Given the description of an element on the screen output the (x, y) to click on. 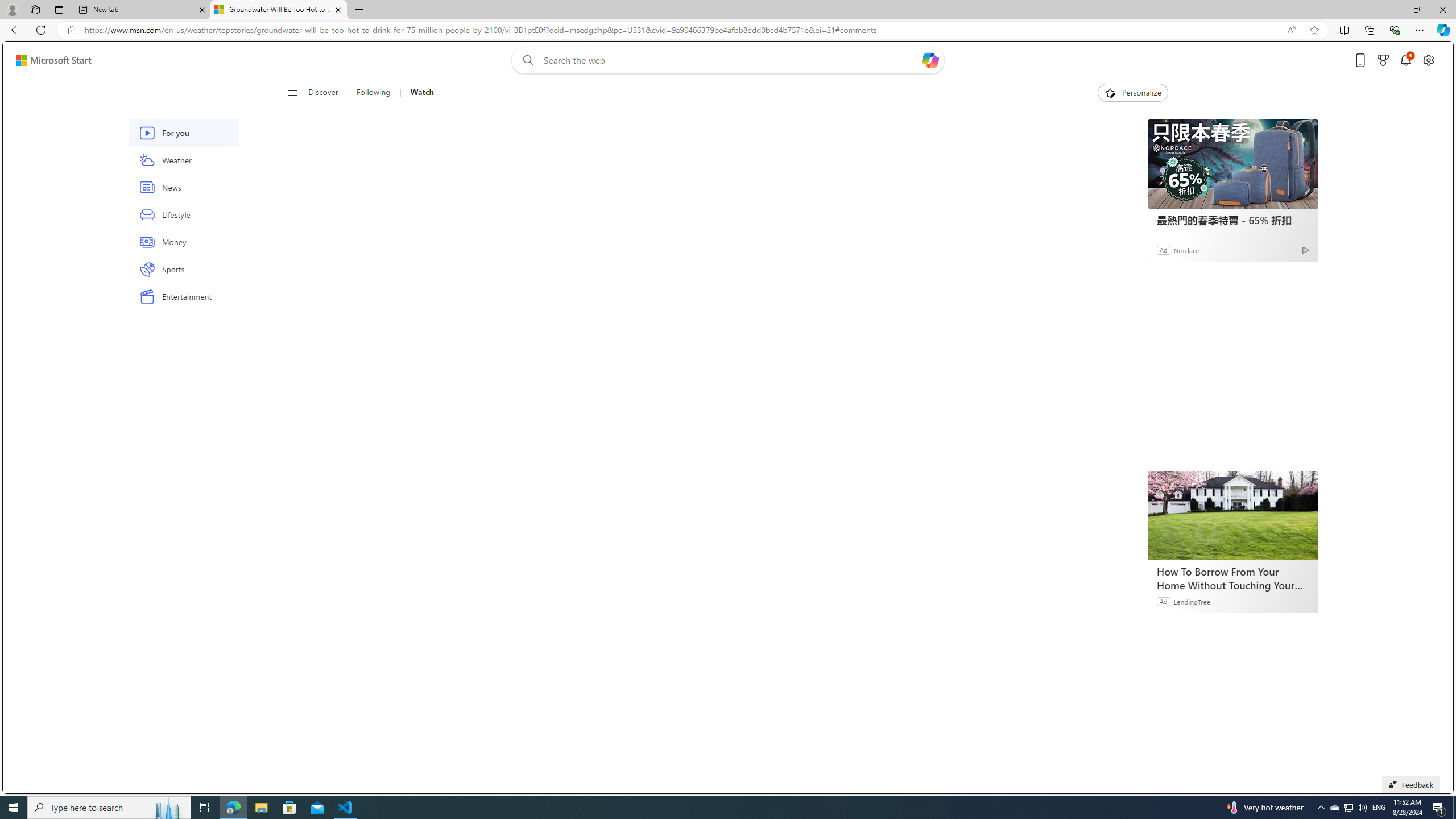
Web search (526, 60)
How To Borrow From Your Home Without Touching Your Mortgage (1232, 515)
